Given the description of an element on the screen output the (x, y) to click on. 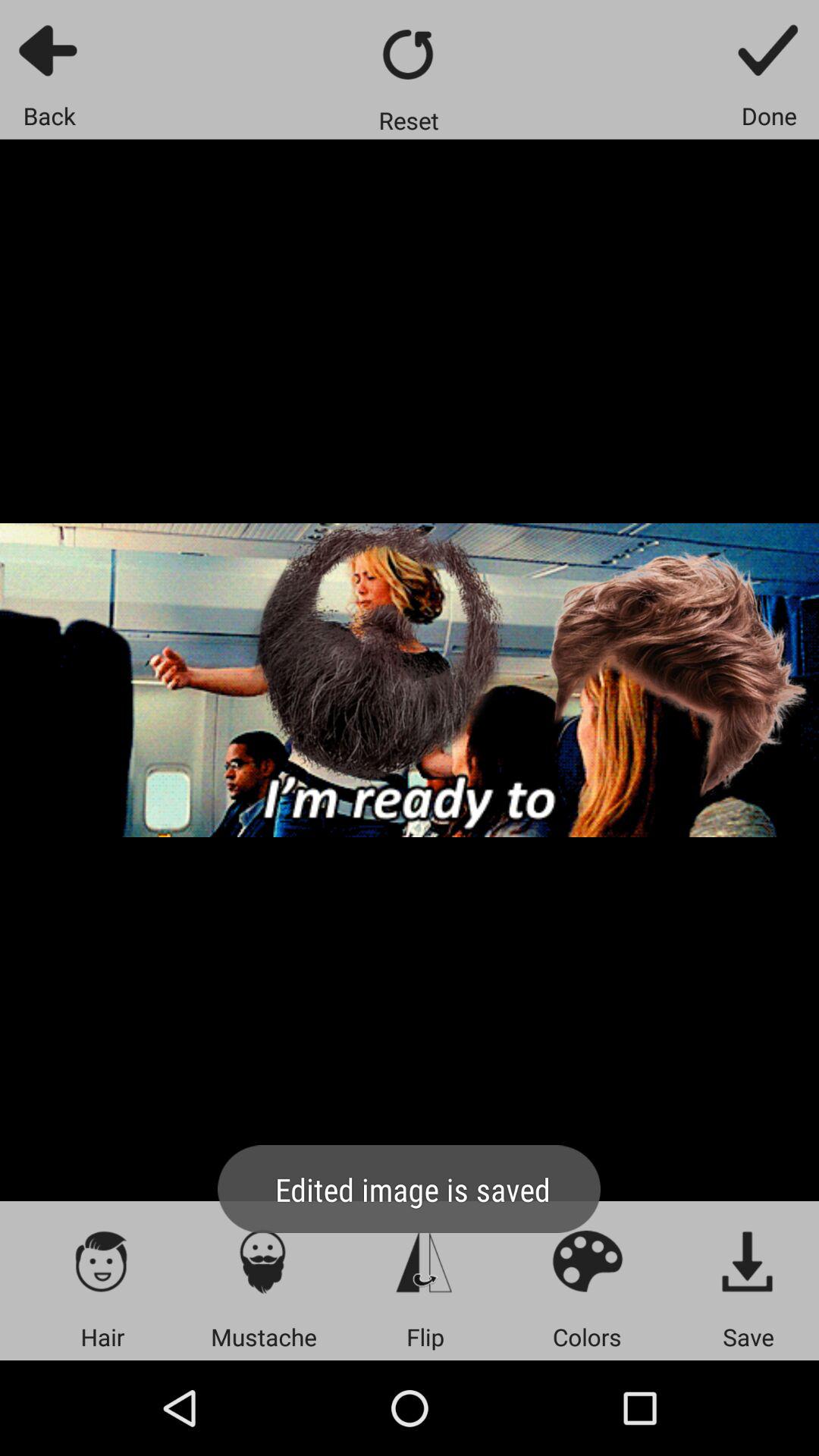
download (748, 1260)
